Given the description of an element on the screen output the (x, y) to click on. 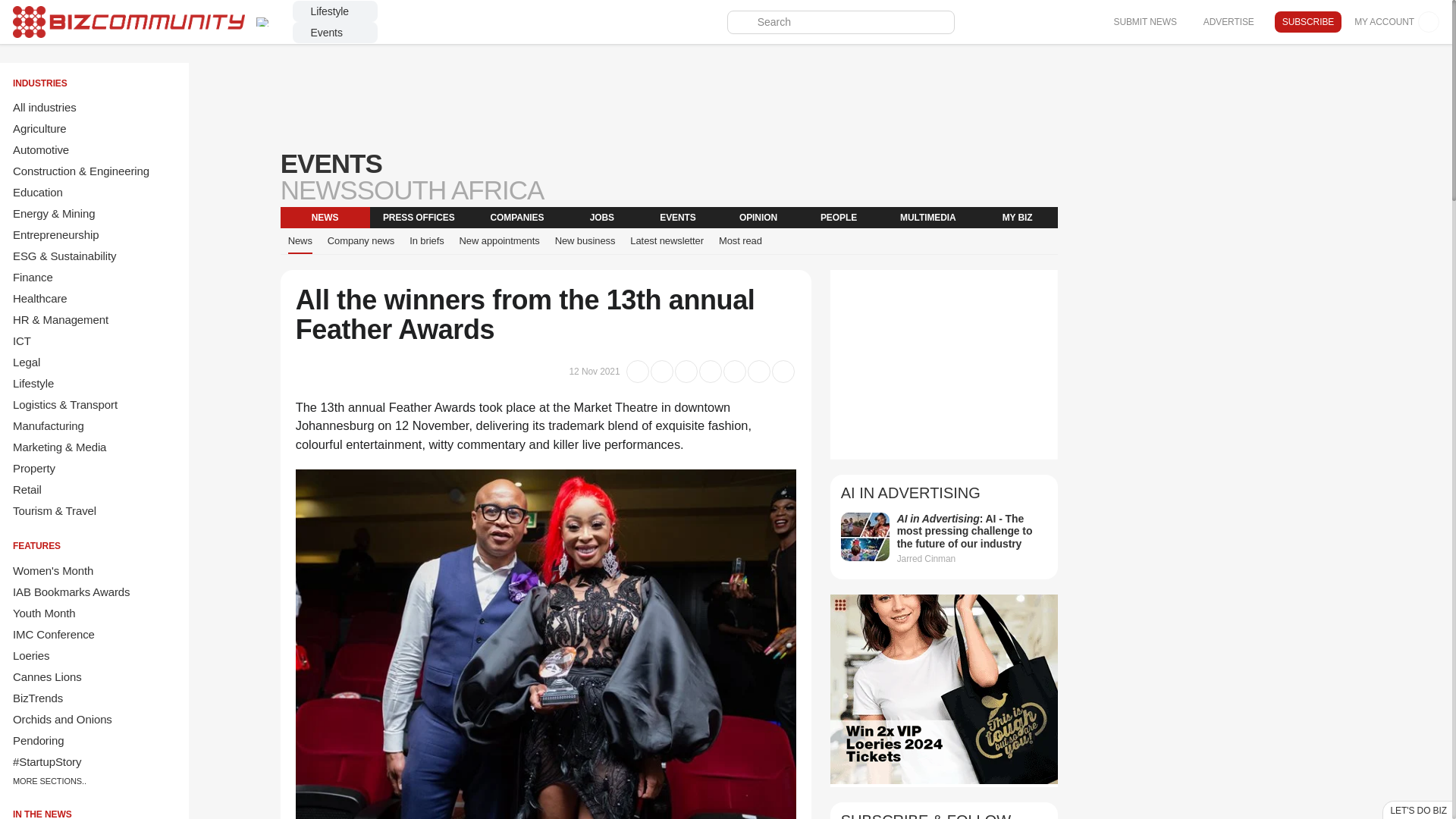
Bizcommunity youtube (1062, 22)
Lifestyle (334, 11)
SUBMIT NEWS (1144, 21)
Bizcommunity instagram (1040, 22)
Bizcommunity facebook (1084, 22)
ADVERTISE (1228, 21)
SUBSCRIBE (1307, 21)
MY ACCOUNT (1396, 21)
Bizcommunity linked (975, 22)
Events (334, 32)
